Given the description of an element on the screen output the (x, y) to click on. 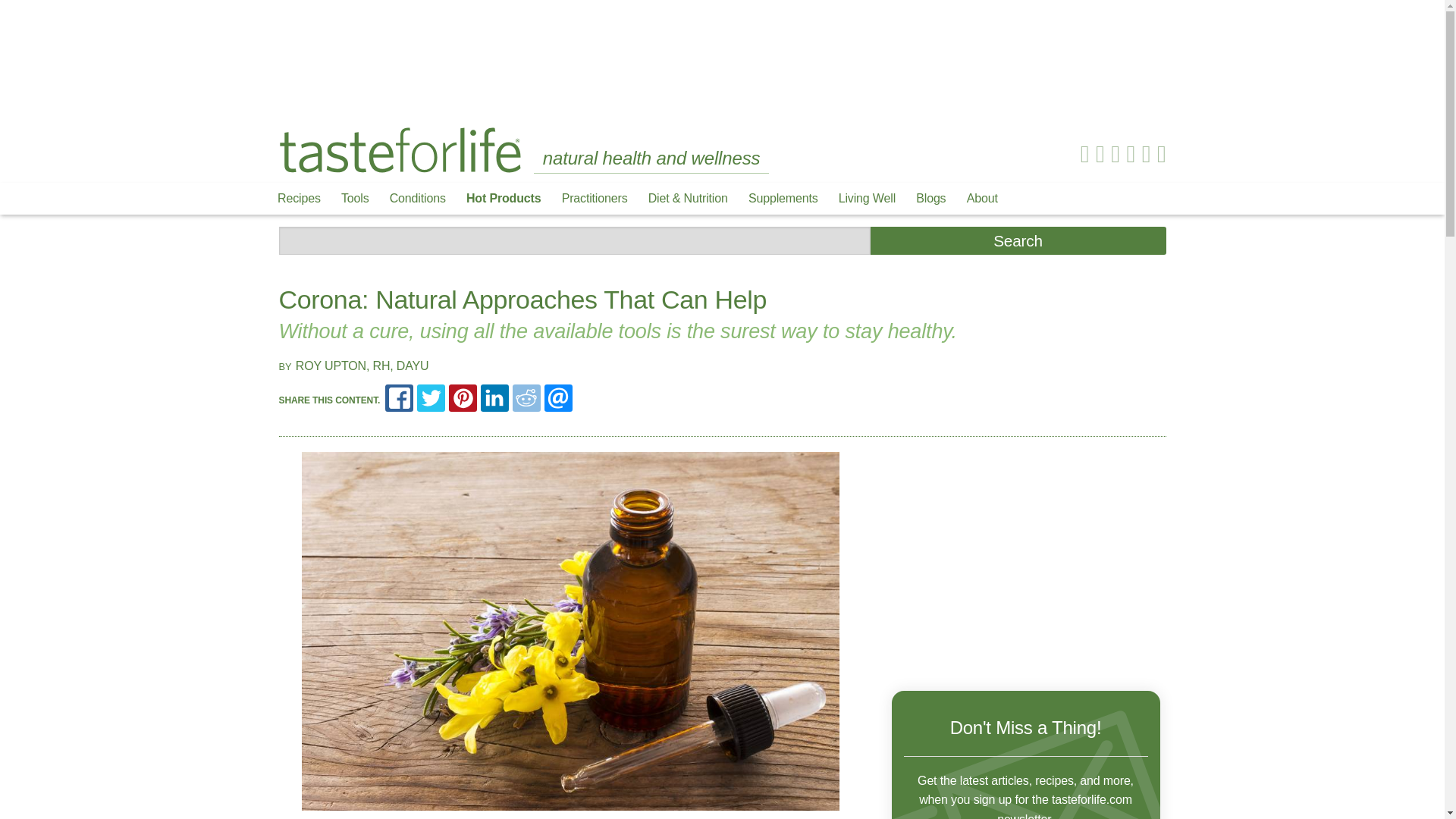
 Home (400, 149)
Enter the terms you wish to search for. (574, 240)
 Home (400, 148)
Advertisement (721, 52)
